Given the description of an element on the screen output the (x, y) to click on. 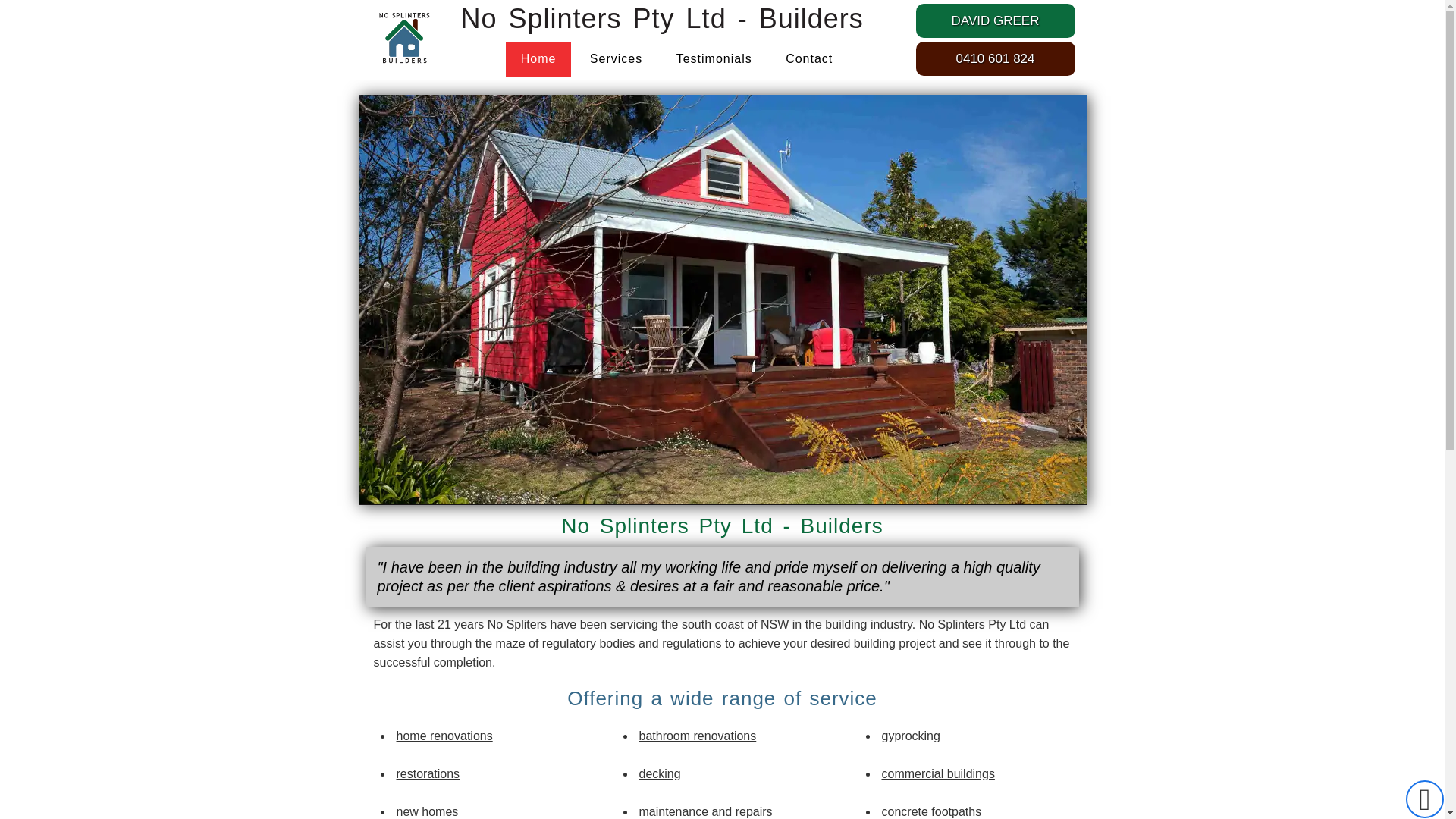
decking Element type: text (659, 773)
restorations Element type: text (427, 773)
Contact Element type: text (808, 58)
commercial buildings Element type: text (937, 773)
new homes Element type: text (426, 811)
home renovations Element type: text (443, 735)
maintenance and repairs Element type: text (704, 811)
Testimonials Element type: text (714, 58)
bathroom renovations Element type: text (697, 735)
Services Element type: text (615, 58)
Home Element type: text (538, 58)
